Given the description of an element on the screen output the (x, y) to click on. 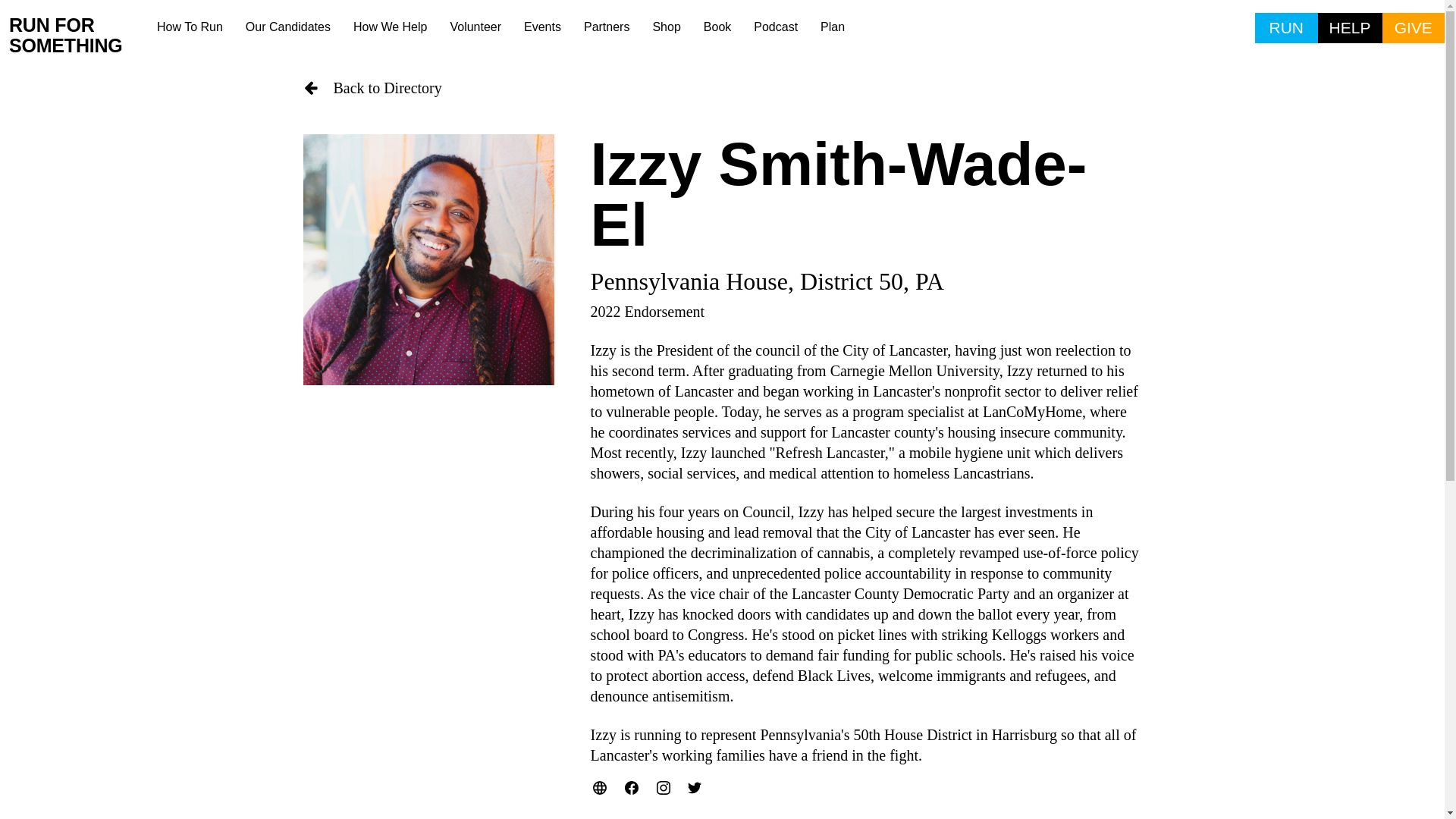
Book (717, 27)
Podcast (775, 27)
How We Help (390, 27)
Back to Directory (721, 87)
Volunteer (475, 27)
Partners (606, 27)
Plan (832, 27)
Shop (665, 27)
How To Run (189, 27)
RUN (1286, 28)
Events (542, 27)
Our Candidates (288, 27)
RUN FOR SOMETHING (76, 35)
HELP (1349, 28)
